Given the description of an element on the screen output the (x, y) to click on. 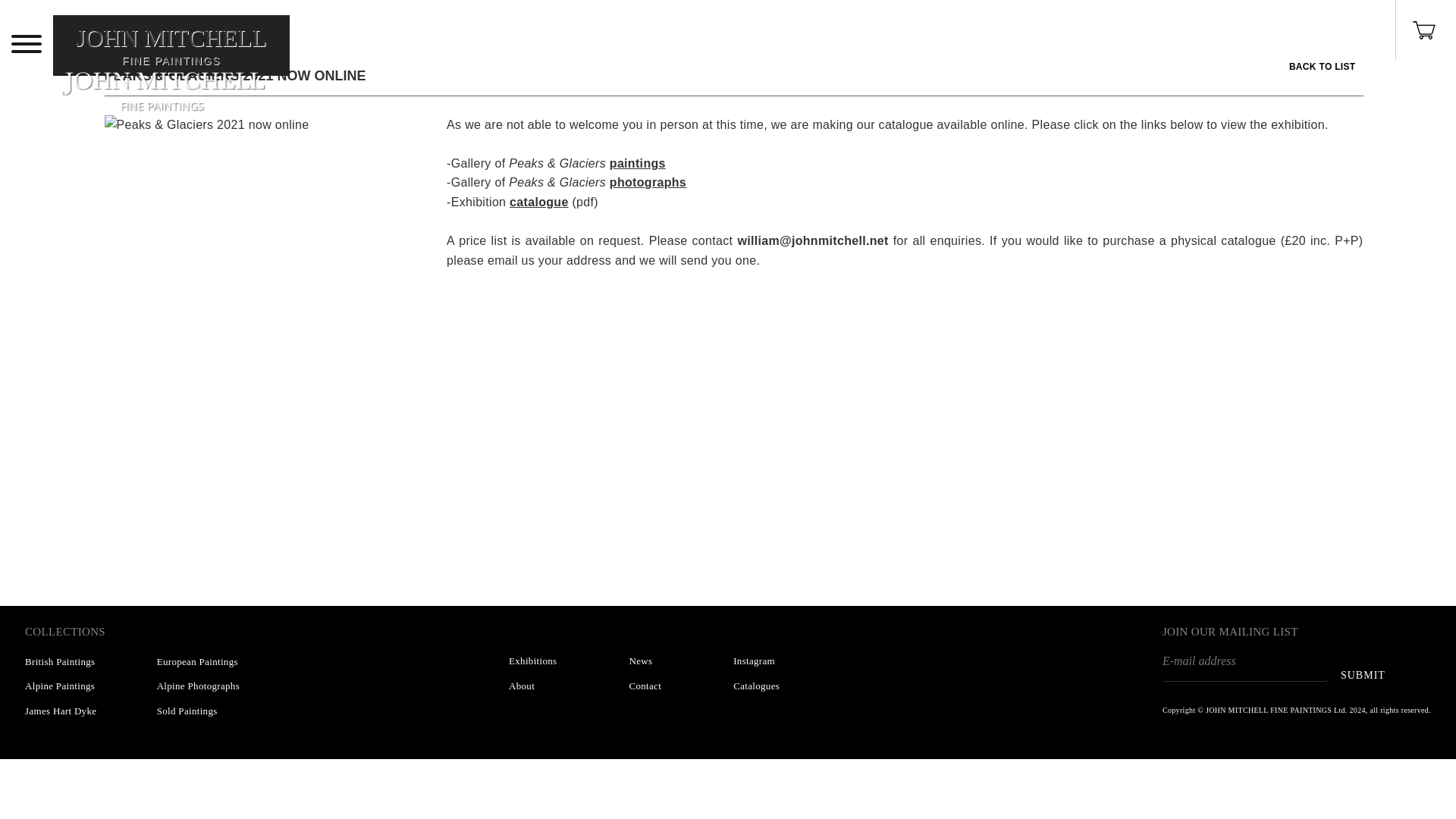
European Paintings (197, 661)
Homepage (170, 69)
Catalogues (755, 685)
Instagram (753, 660)
British Paintings (59, 661)
SUBMIT (1363, 675)
paintings (637, 163)
Exhibitions (170, 69)
News (532, 660)
Alpine Paintings (640, 660)
James Hart Dyke (59, 685)
About (60, 710)
Contact (521, 685)
Alpine Photographs (644, 685)
